Given the description of an element on the screen output the (x, y) to click on. 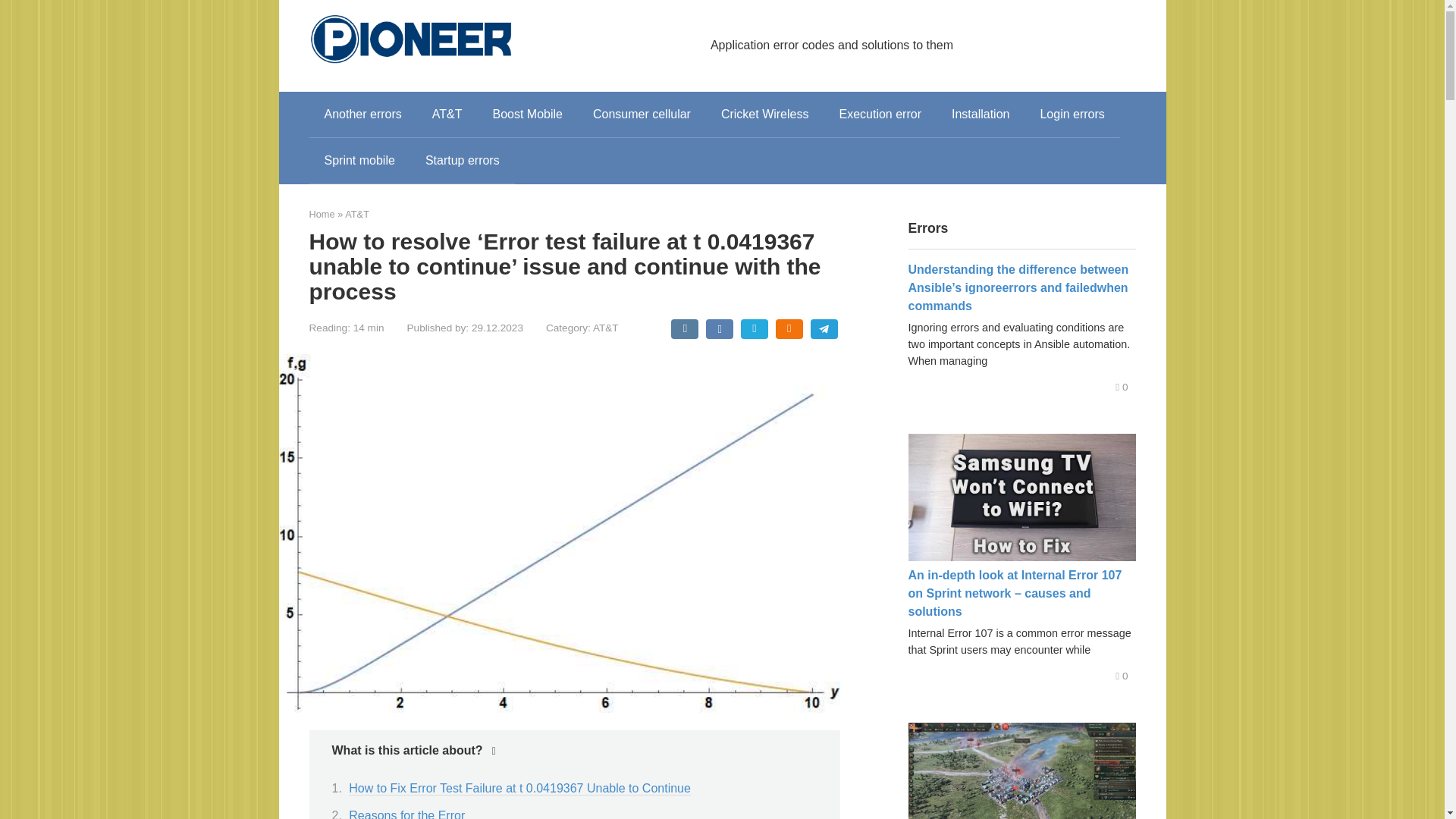
Home (321, 214)
Comments (1120, 675)
Startup errors (462, 160)
Boost Mobile (527, 114)
Login errors (1072, 114)
Sprint mobile (359, 160)
Another errors (362, 114)
Installation (980, 114)
Consumer cellular (642, 114)
Comments (1120, 387)
Execution error (880, 114)
Cricket Wireless (765, 114)
Reasons for the Error (406, 814)
